Given the description of an element on the screen output the (x, y) to click on. 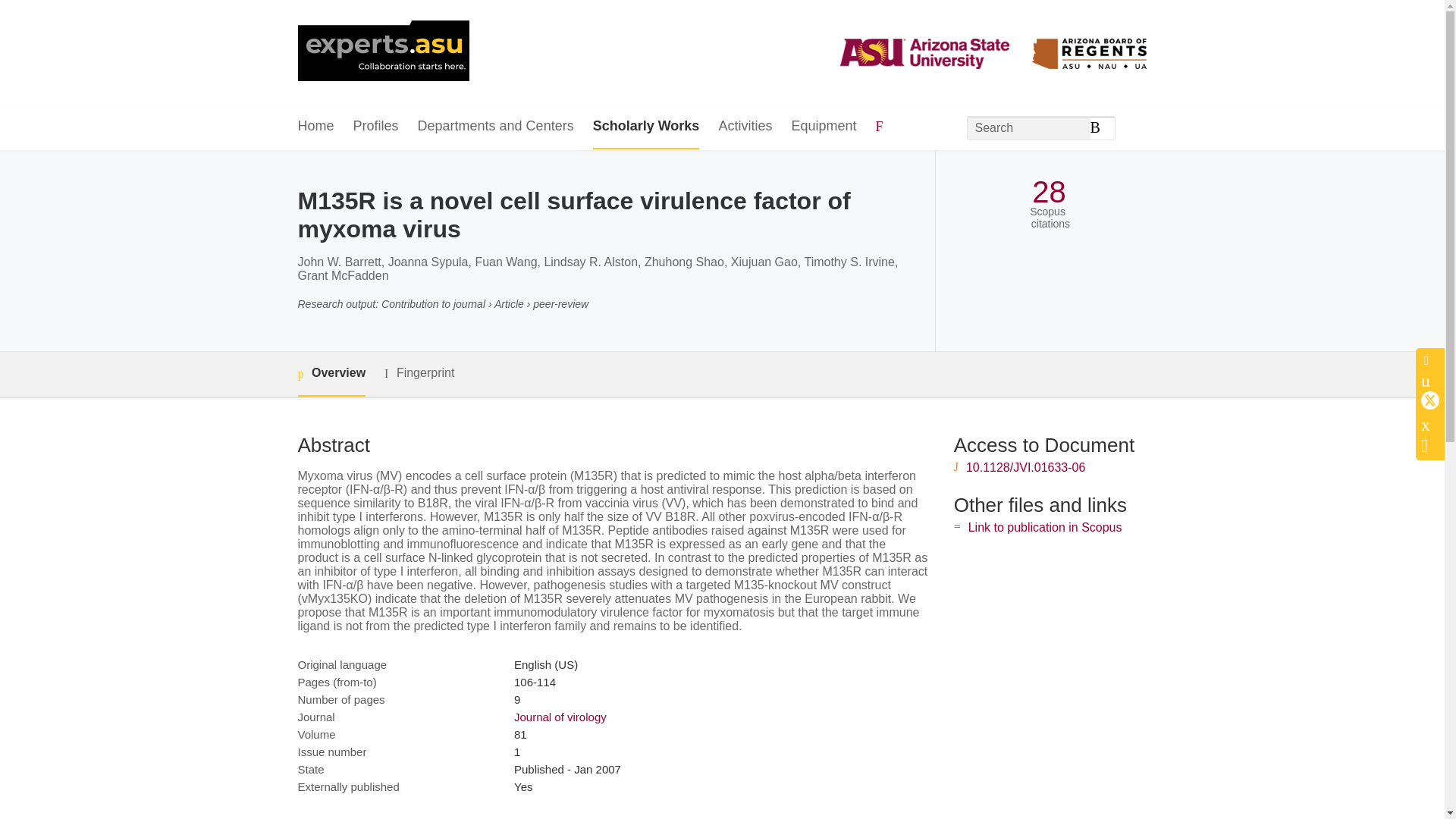
Profiles (375, 126)
Journal of virology (560, 716)
28 (1048, 192)
Departments and Centers (495, 126)
Scholarly Works (646, 126)
Equipment (823, 126)
Link to publication in Scopus (1045, 526)
Fingerprint (419, 373)
Activities (744, 126)
Arizona State University Home (382, 52)
Overview (331, 374)
